Given the description of an element on the screen output the (x, y) to click on. 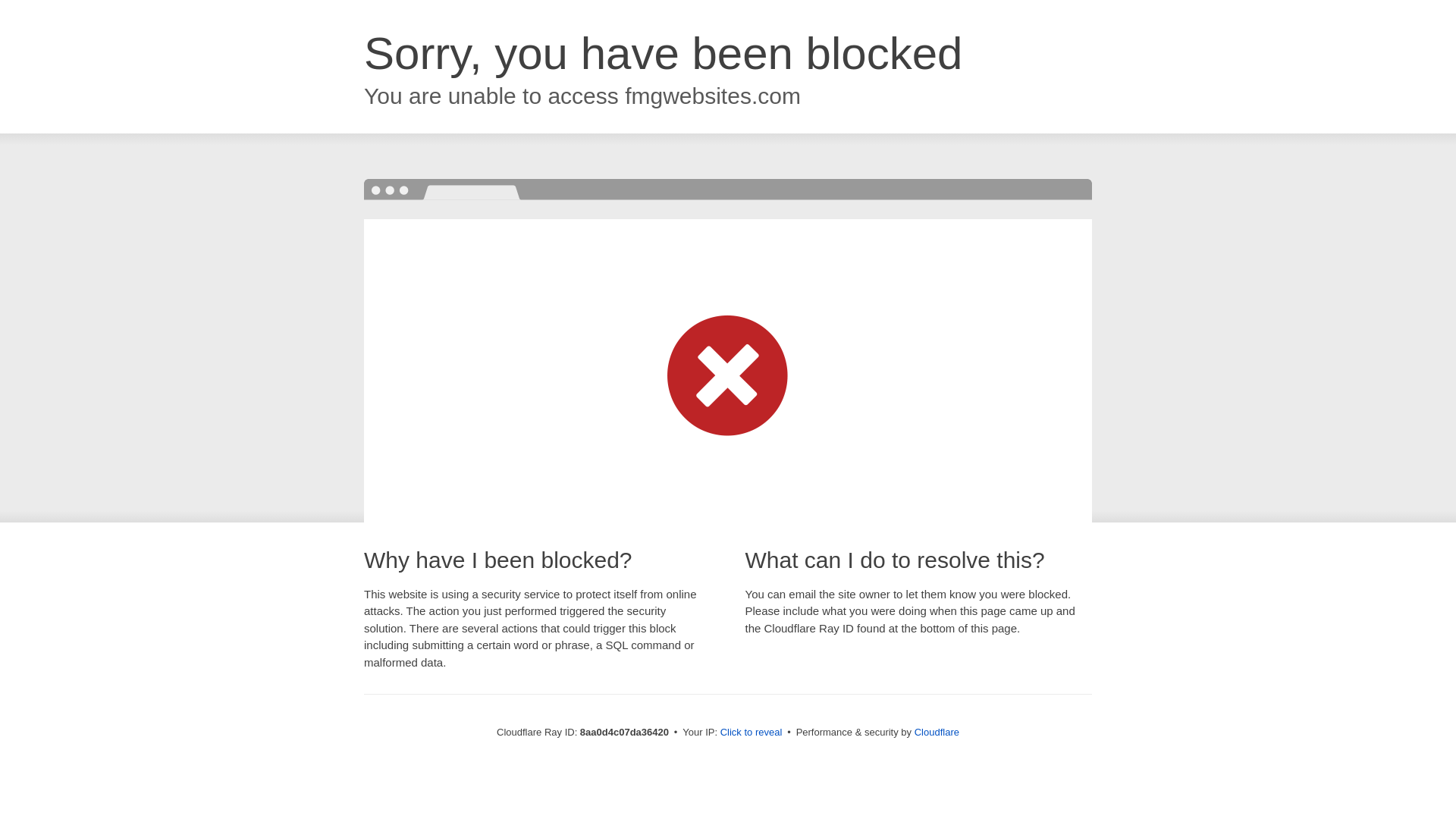
Cloudflare (936, 731)
Click to reveal (751, 732)
